Given the description of an element on the screen output the (x, y) to click on. 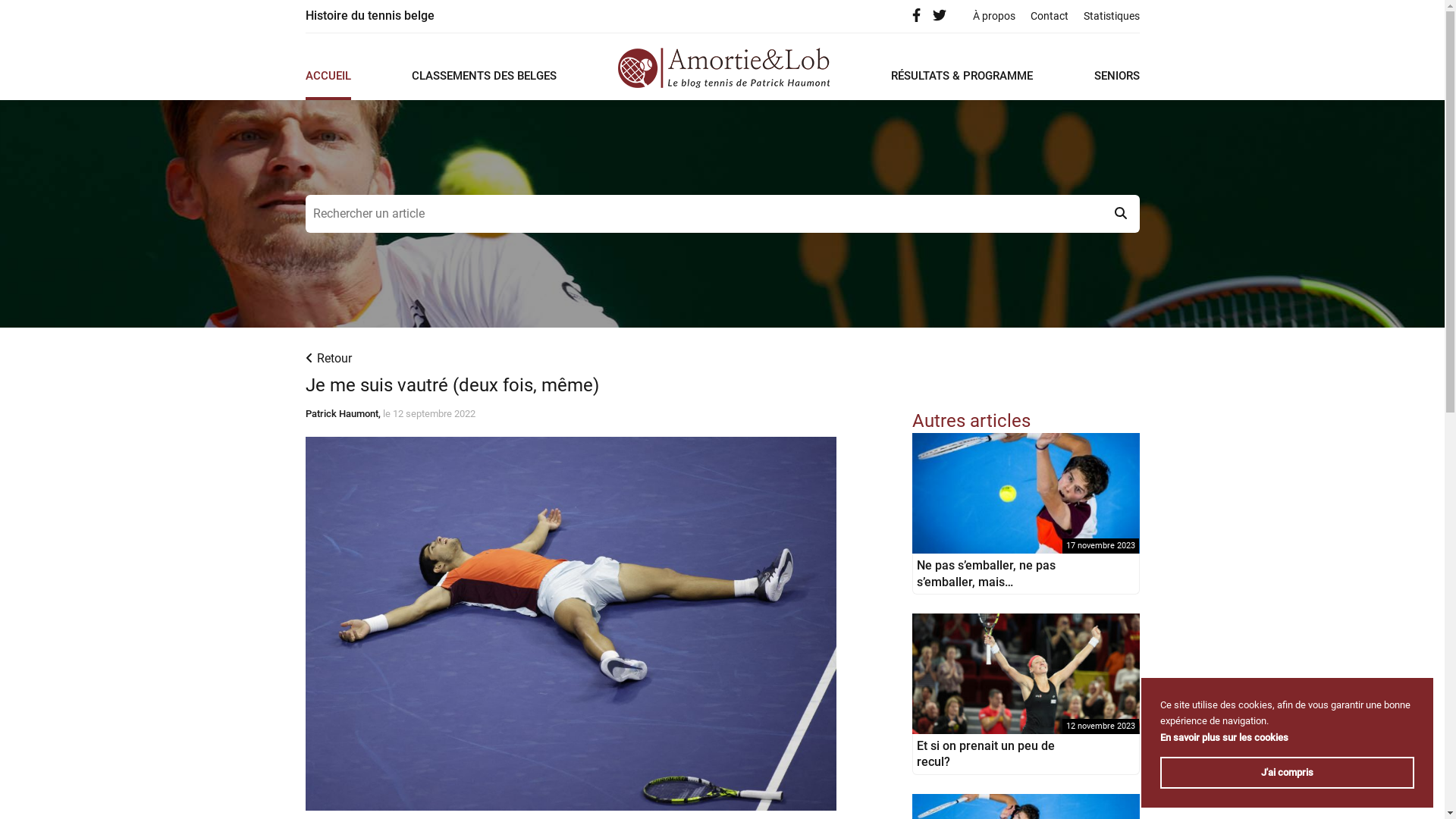
Et si on prenait un peu de recul? Element type: hover (1025, 673)
Statistiques Element type: text (1110, 15)
twitter Element type: hover (941, 15)
Rechercher Element type: hover (721, 213)
Amortie & Lob Element type: hover (723, 67)
facebook Element type: hover (918, 15)
ACCUEIL Element type: text (327, 84)
CLASSEMENTS DES BELGES Element type: text (483, 84)
Histoire du tennis belge Element type: text (368, 16)
Et si on prenait un peu de recul? Element type: text (985, 753)
Retour Element type: text (327, 358)
SENIORS Element type: text (1116, 84)
En savoir plus sur les cookies Element type: text (1224, 737)
Contact Element type: text (1048, 15)
